Given the description of an element on the screen output the (x, y) to click on. 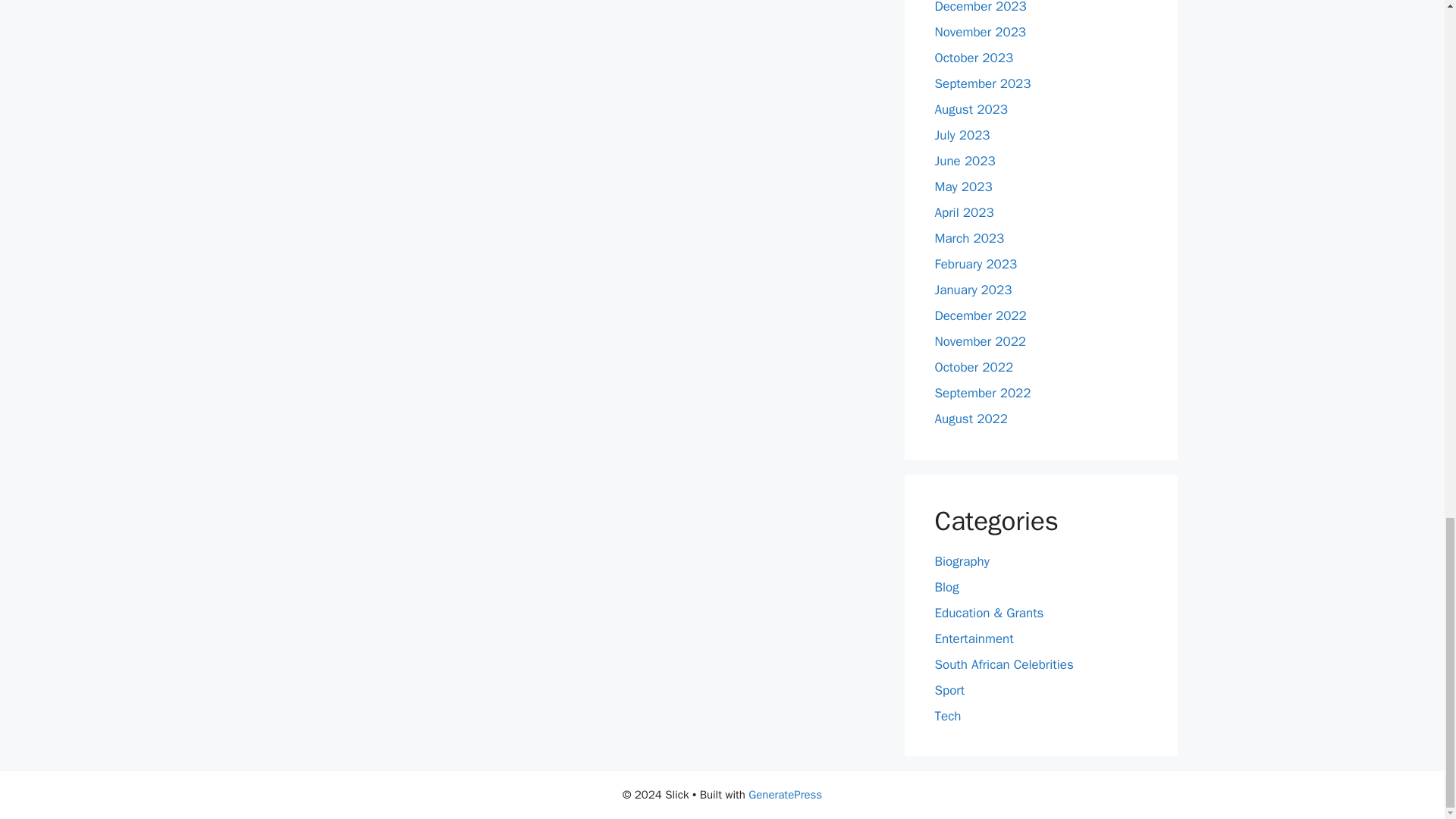
November 2022 (980, 341)
September 2023 (982, 83)
December 2022 (980, 315)
March 2023 (969, 238)
June 2023 (964, 160)
December 2023 (980, 7)
October 2023 (973, 57)
May 2023 (962, 186)
February 2023 (975, 263)
October 2022 (973, 367)
July 2023 (962, 135)
November 2023 (980, 32)
September 2022 (982, 392)
April 2023 (963, 212)
August 2023 (970, 109)
